Given the description of an element on the screen output the (x, y) to click on. 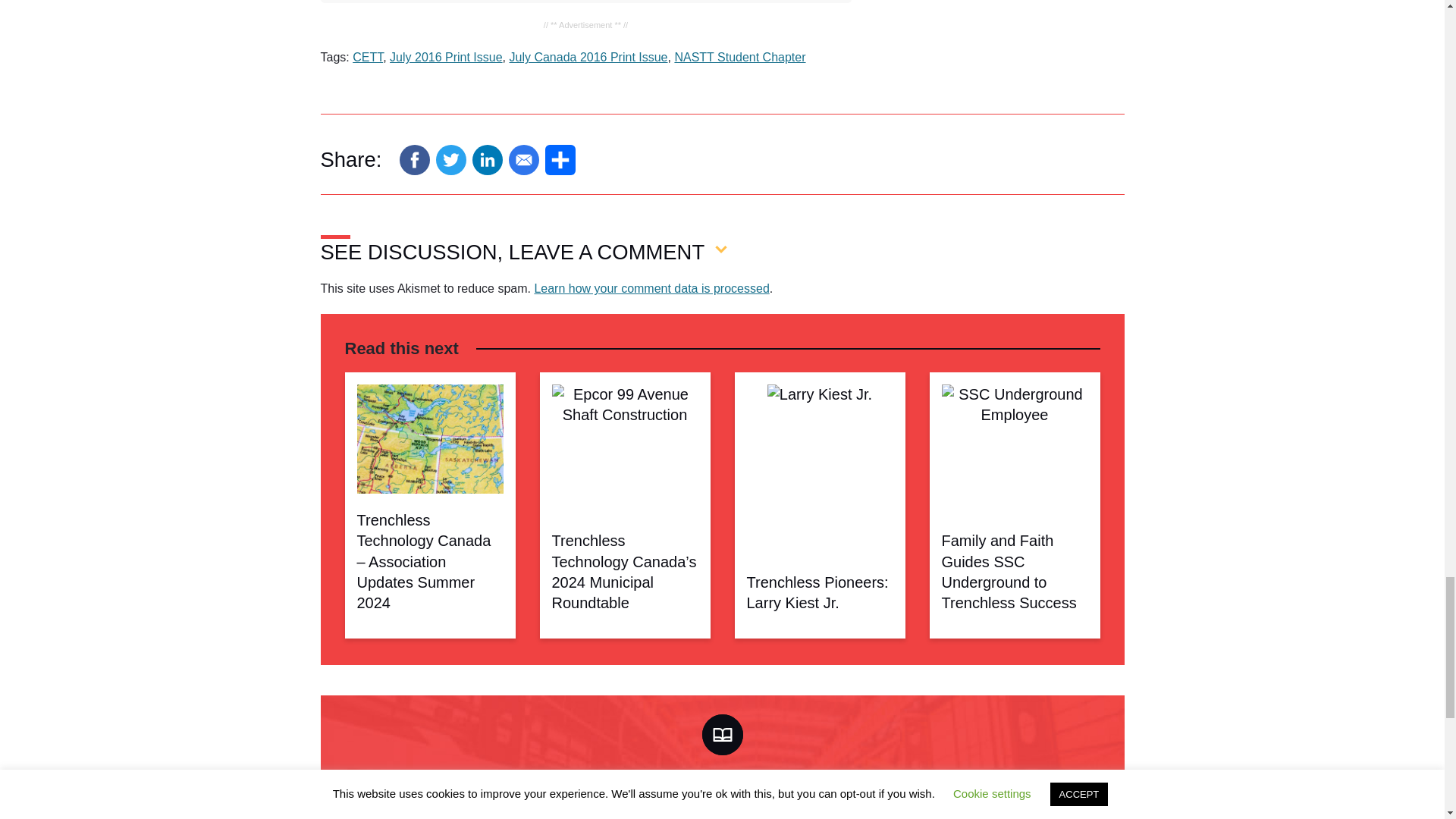
LinkedIn (486, 159)
Email (523, 159)
Trenchless Pioneers: Larry Kiest Jr. (818, 440)
Facebook (414, 159)
Twitter (450, 159)
